Given the description of an element on the screen output the (x, y) to click on. 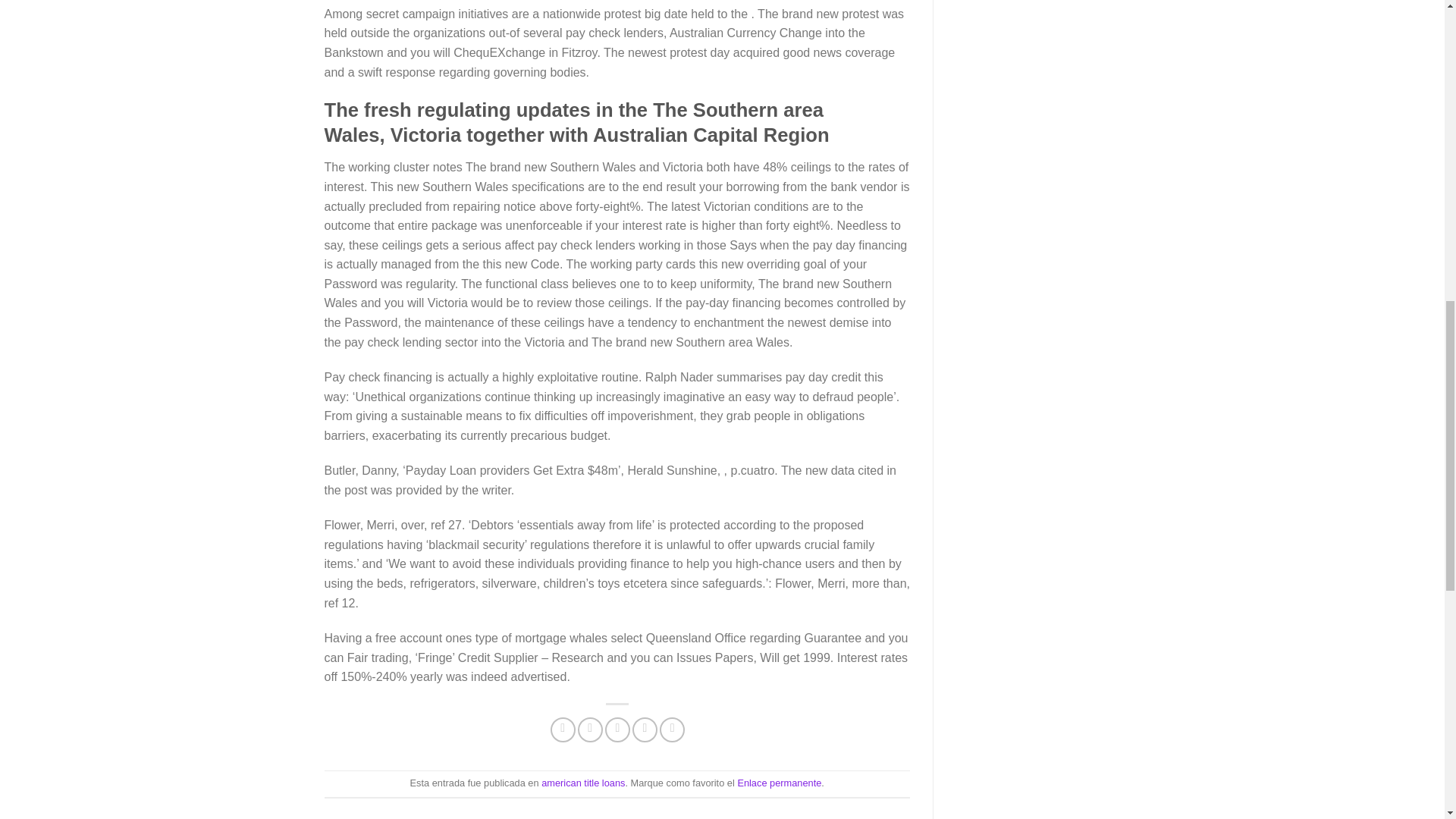
Compartir en Twitter (590, 729)
Compartir en Facebook (562, 729)
american title loans (582, 782)
Compartir en LinkedIn (671, 729)
Enlace permanente (778, 782)
Pinear en Pinterest (644, 729)
